Given the description of an element on the screen output the (x, y) to click on. 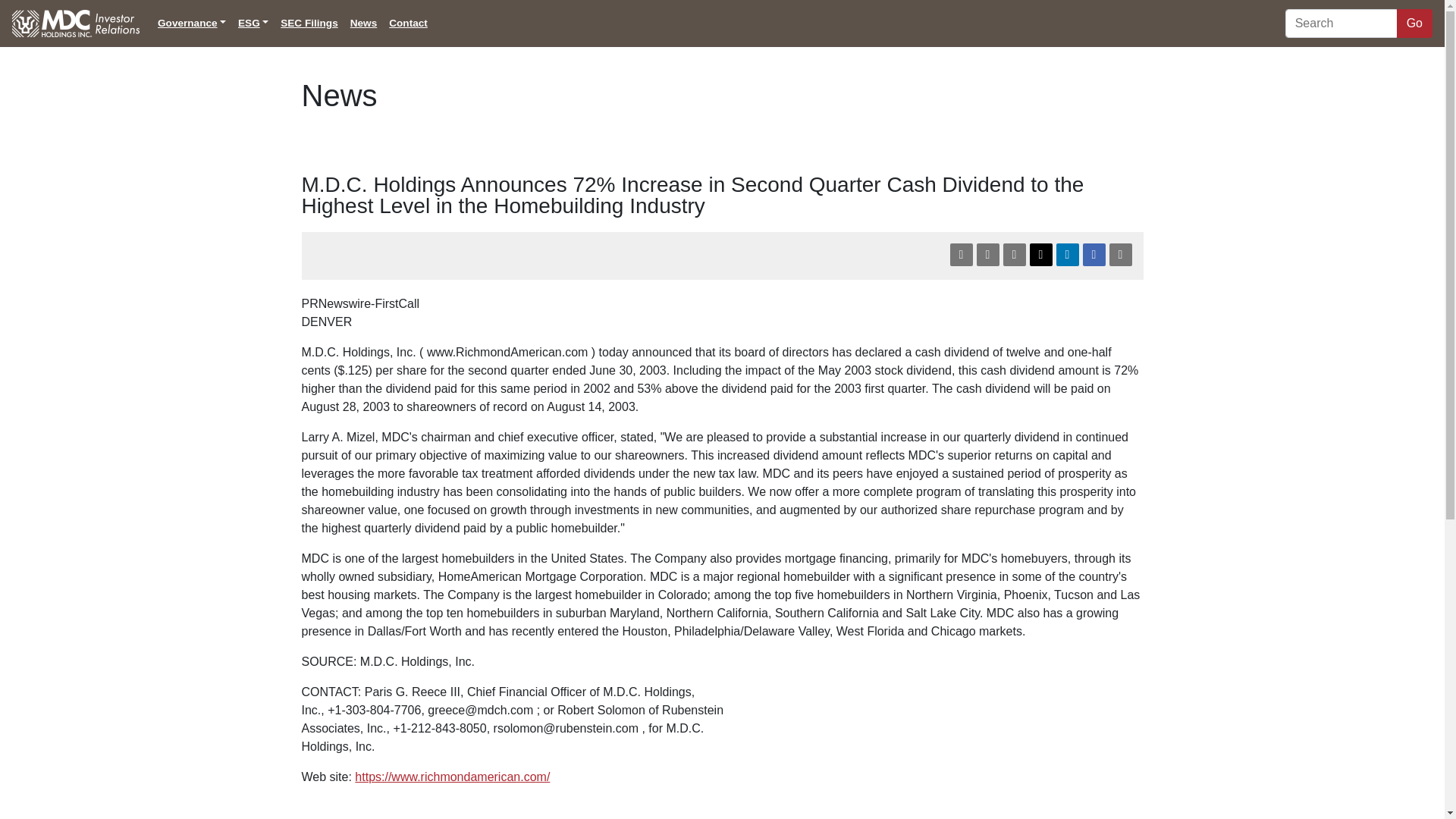
Contact (407, 22)
Search (1342, 23)
Click here to subscribe to our RSS feed.  (987, 254)
Click here to download a PDF of this page content. (960, 254)
Click here to print the content on this page.  (1119, 254)
Go (1414, 23)
Go (1414, 23)
Click here to send us an email.  (1014, 254)
SEC Filings (309, 22)
Click here to print the content on this page. (1119, 254)
